Given the description of an element on the screen output the (x, y) to click on. 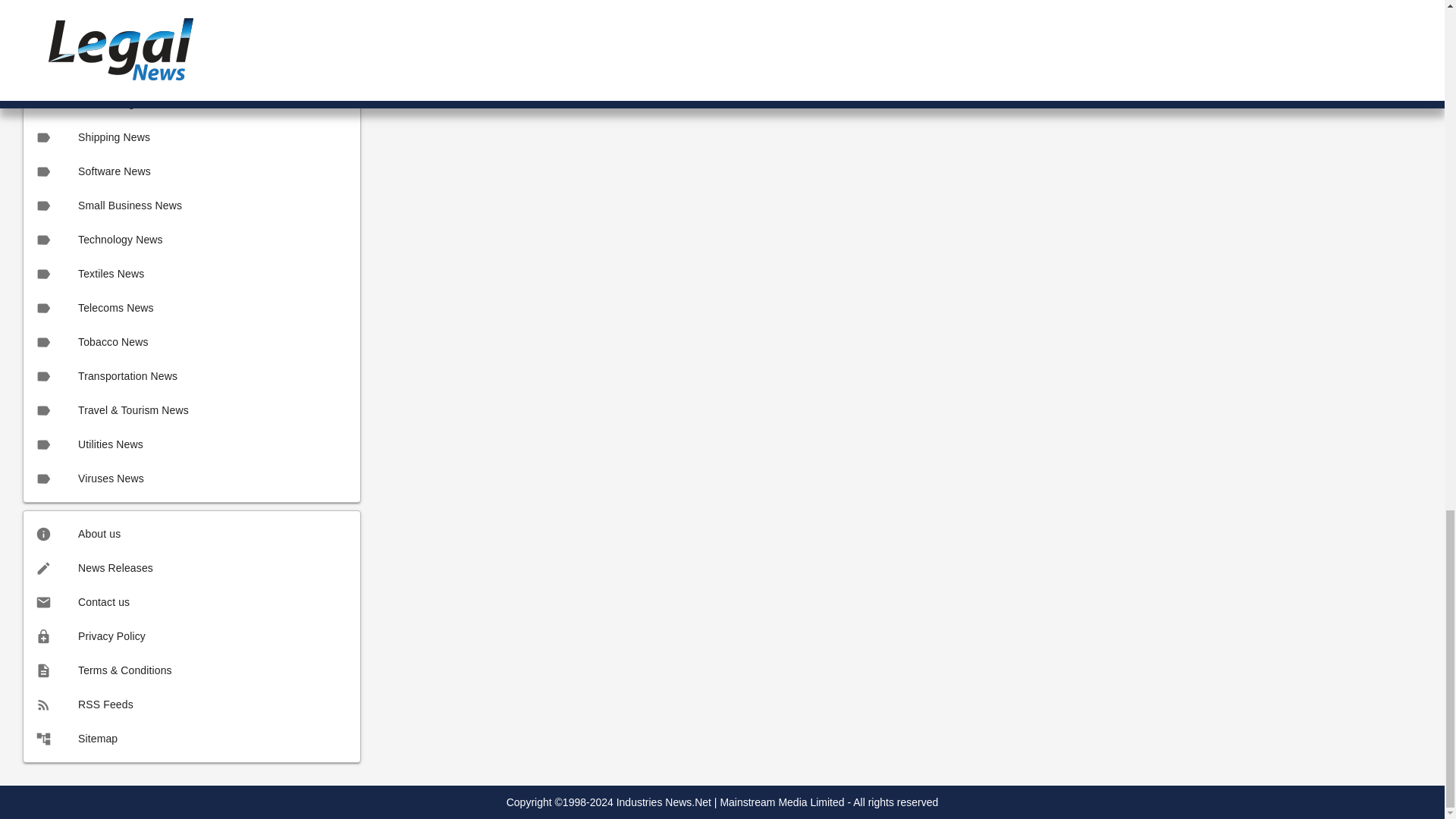
Retail News (191, 69)
Search Engines News (191, 103)
Property News (191, 35)
Plastics News (191, 9)
